Given the description of an element on the screen output the (x, y) to click on. 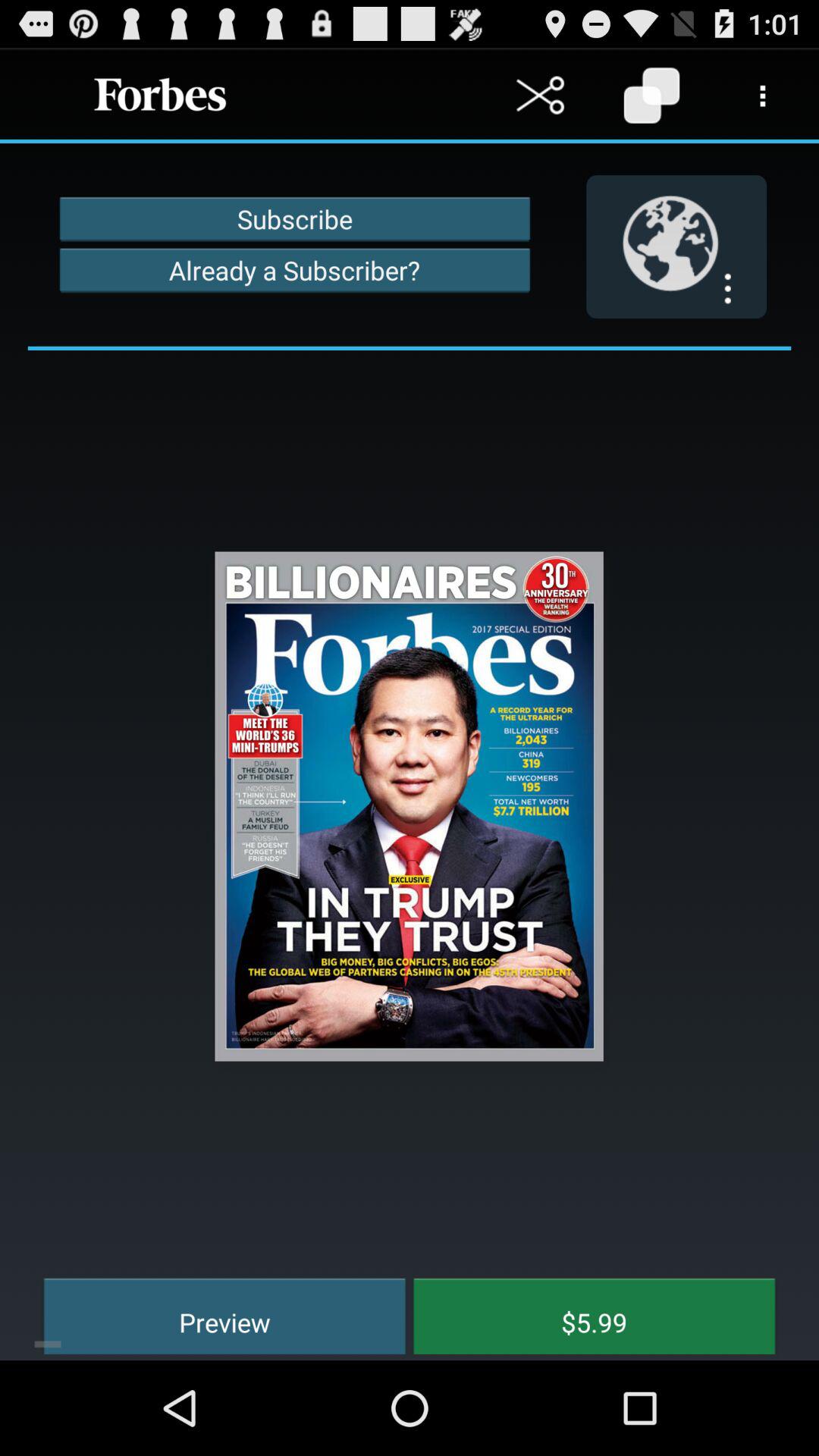
launch item to the left of the $5.99 (213, 1314)
